Given the description of an element on the screen output the (x, y) to click on. 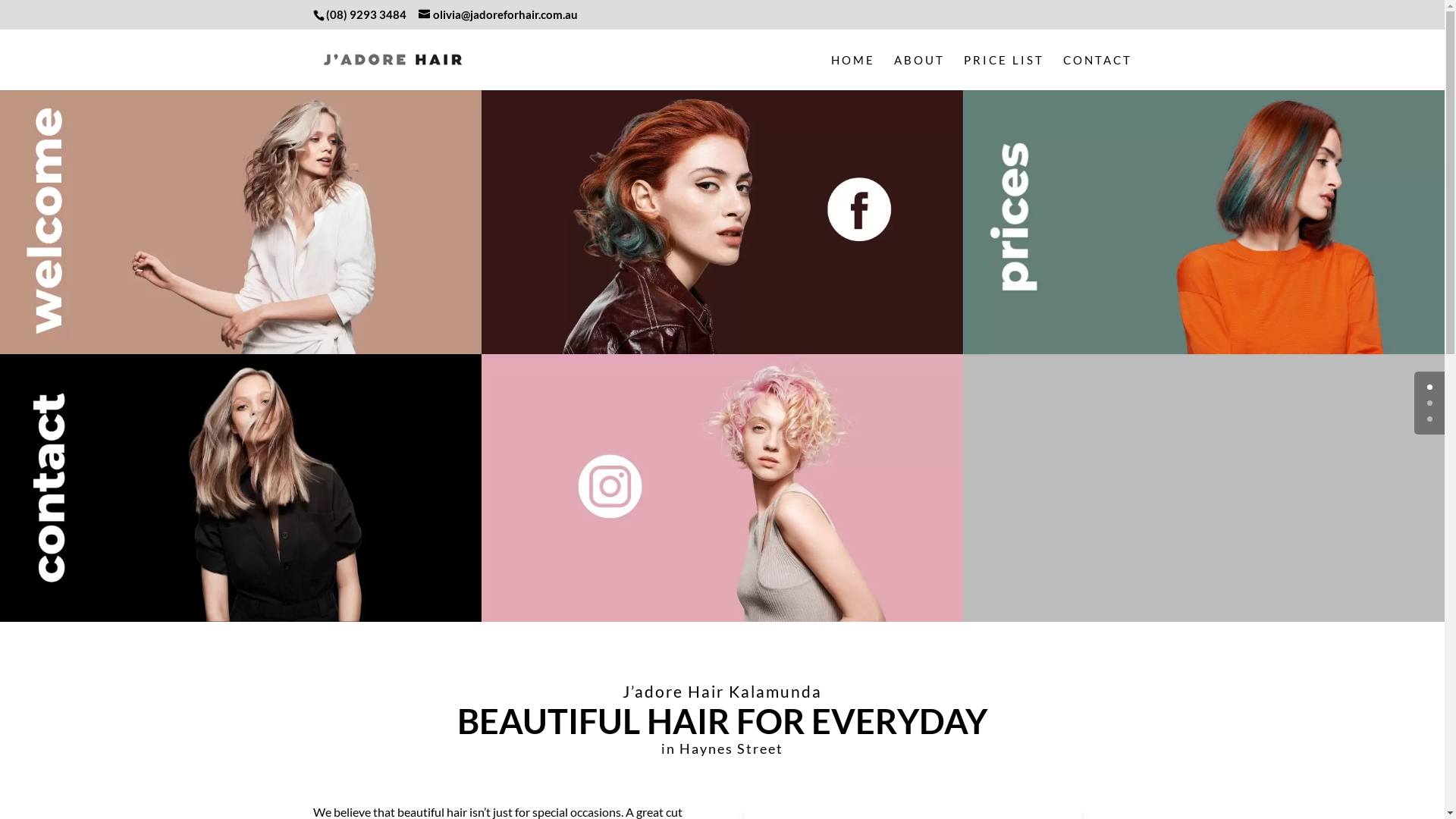
2 Element type: text (1429, 418)
loreal professioinal Element type: hover (1203, 487)
HOME Element type: text (853, 72)
olivia@jadoreforhair.com.au Element type: text (497, 14)
CONTACT Element type: text (1097, 72)
PRICE LIST Element type: text (1003, 72)
1 Element type: hover (240, 220)
4 Element type: hover (240, 487)
2 Element type: hover (1203, 220)
1 Element type: text (1429, 402)
ABOUT Element type: text (918, 72)
0 Element type: text (1429, 386)
Jadore Home Banner Images (3) Element type: hover (722, 487)
Jadore Home Banner Images (4) Element type: hover (722, 220)
